Given the description of an element on the screen output the (x, y) to click on. 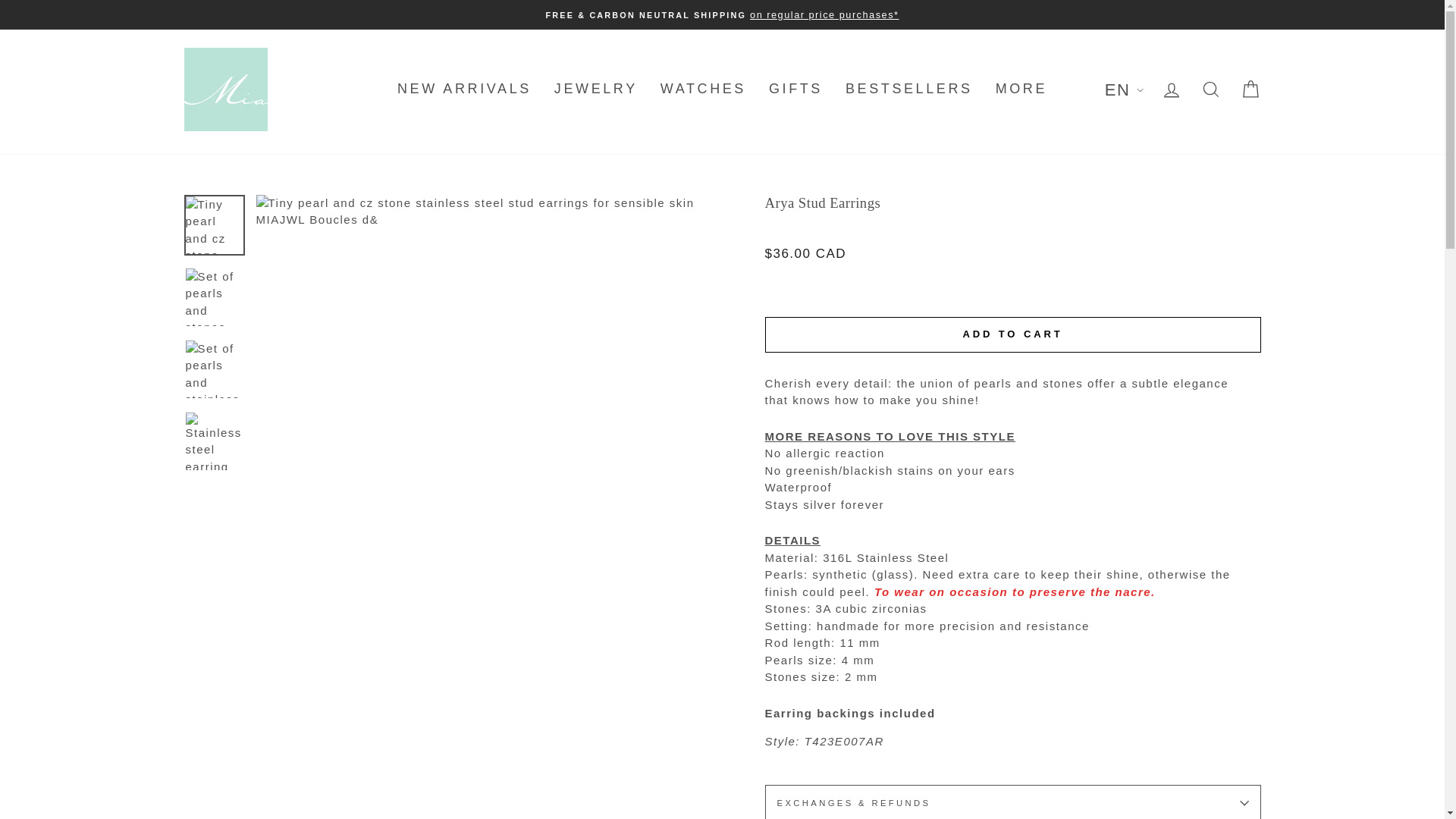
Mia Bijoux on Facebook (1113, 11)
Mia Bijoux on Instagram (1093, 11)
Mia Bijoux on Pinterest (1152, 11)
Mia Bijoux on YouTube (1133, 11)
Mia Bijoux on TikTok (1172, 11)
